Given the description of an element on the screen output the (x, y) to click on. 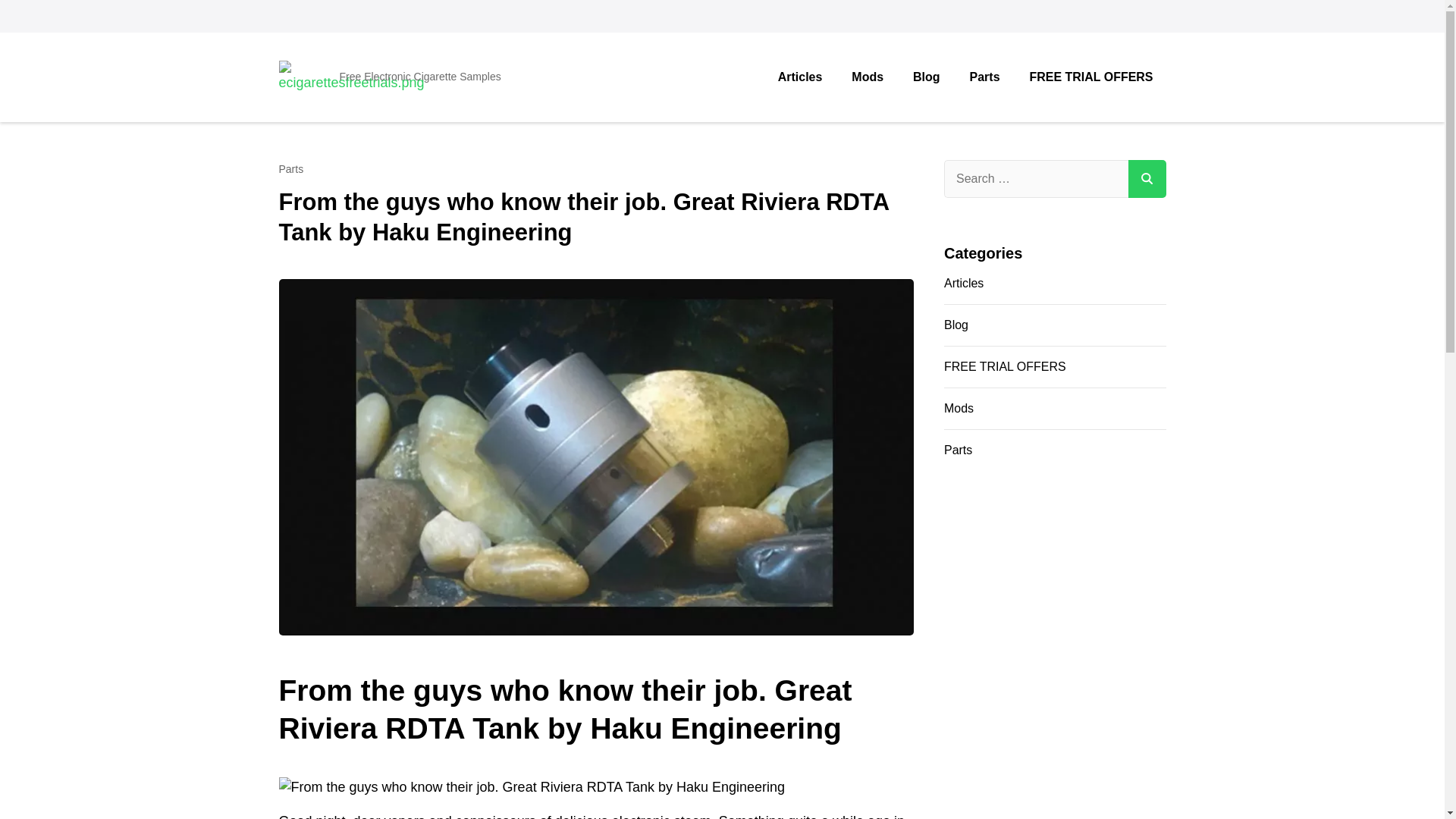
Articles (800, 77)
Mods (867, 77)
Mods (1054, 408)
Parts (984, 77)
Blog (925, 77)
FREE TRIAL OFFERS (1091, 77)
Parts (1054, 450)
Search (1147, 178)
Articles (1054, 283)
Search (1147, 178)
Blog (1054, 325)
FREE TRIAL OFFERS (1054, 366)
Search (1147, 178)
Parts (291, 168)
